Given the description of an element on the screen output the (x, y) to click on. 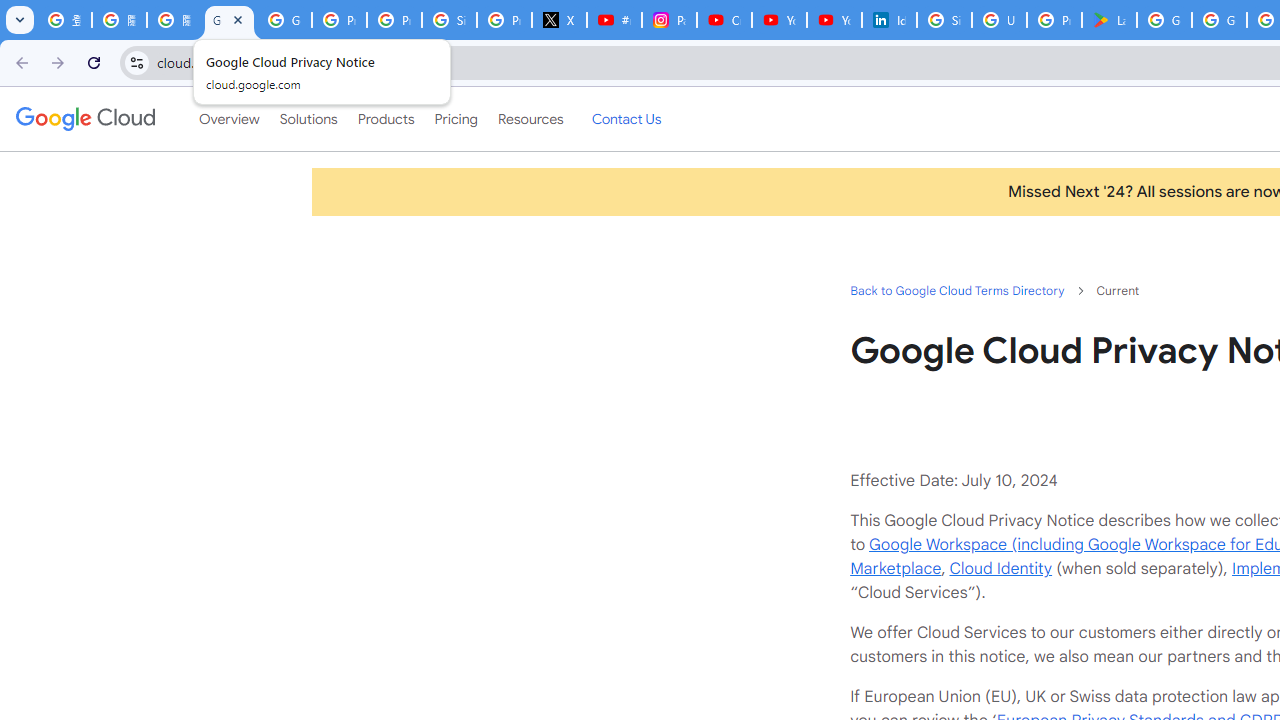
Contact Us (626, 119)
Google Workspace - Specific Terms (1218, 20)
Products (385, 119)
Pricing (455, 119)
Google Cloud Privacy Notice (229, 20)
